Given the description of an element on the screen output the (x, y) to click on. 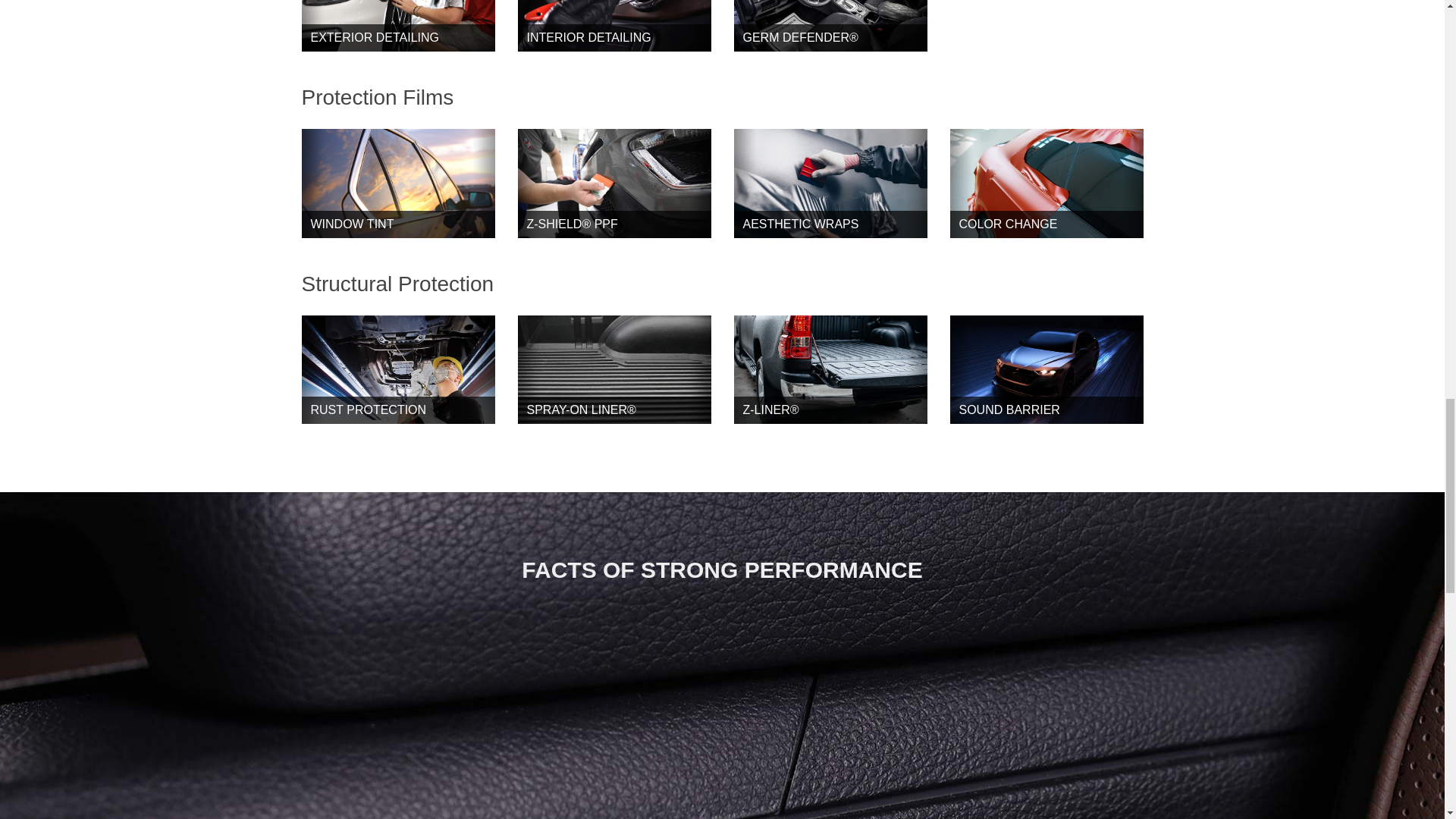
AESTHETIC WRAPS (830, 224)
RUST PROTECTION (398, 410)
EXTERIOR DETAILING (398, 37)
COLOR CHANGE (1045, 224)
INTERIOR DETAILING (613, 37)
WINDOW TINT (398, 224)
